Given the description of an element on the screen output the (x, y) to click on. 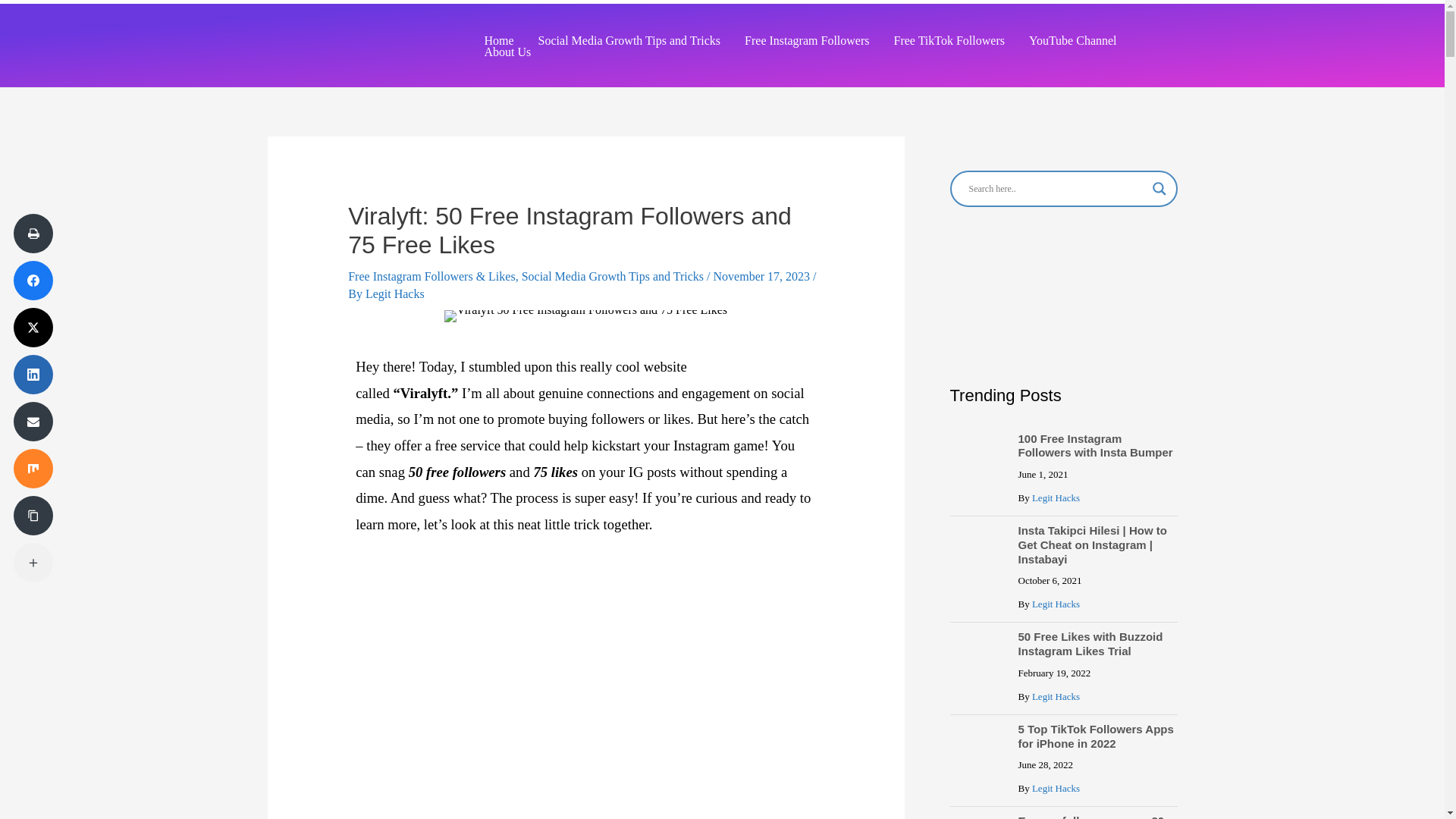
Social Media Growth Tips and Tricks (612, 276)
Free TikTok Followers (948, 40)
YouTube Channel (1072, 40)
Free Instagram Followers (806, 40)
About Us (507, 51)
Legit Hacks (395, 293)
View all posts by Legit Hacks (395, 293)
Home (498, 40)
Social Media Growth Tips and Tricks (628, 40)
